Given the description of an element on the screen output the (x, y) to click on. 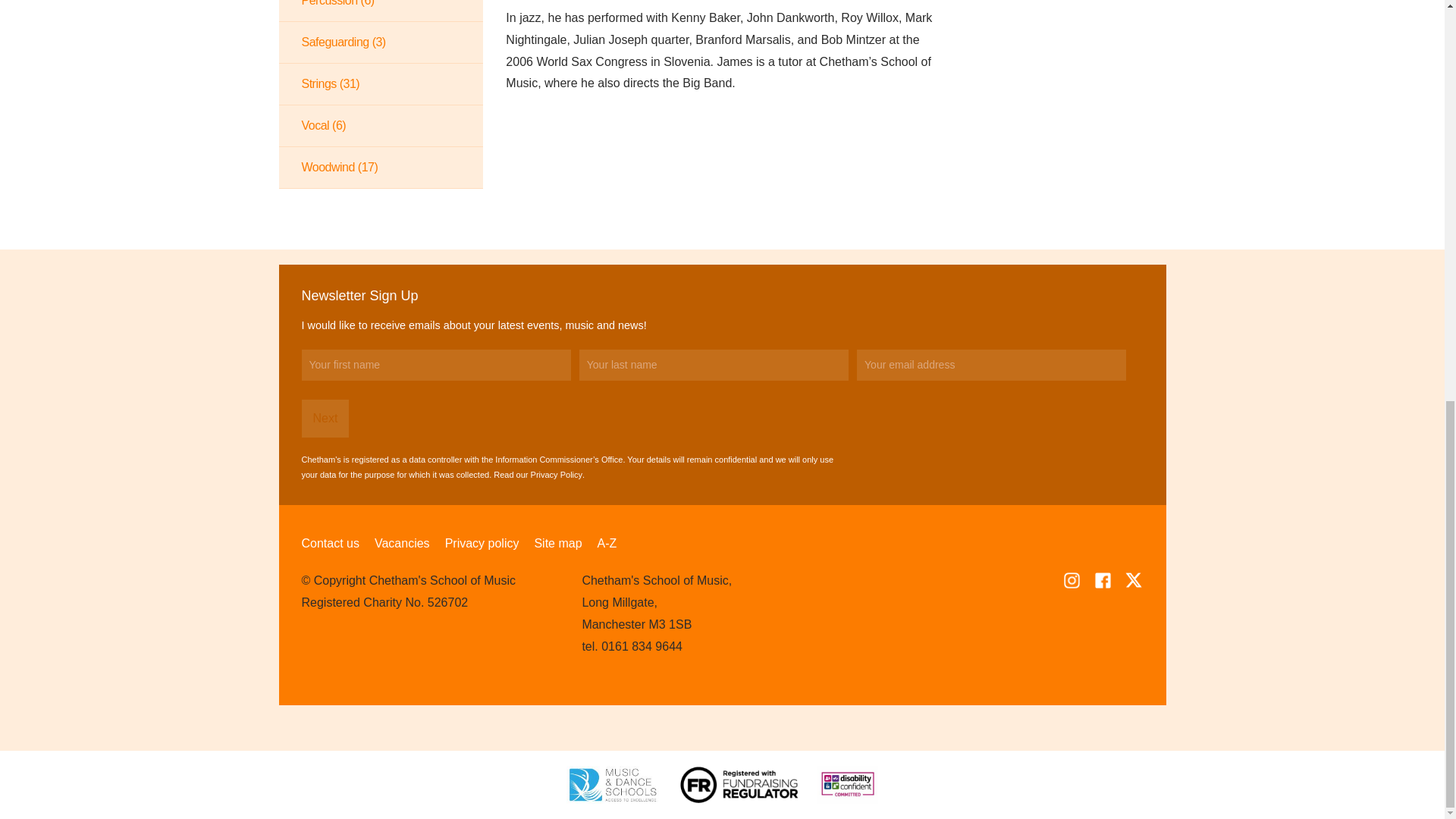
Next (325, 418)
